Given the description of an element on the screen output the (x, y) to click on. 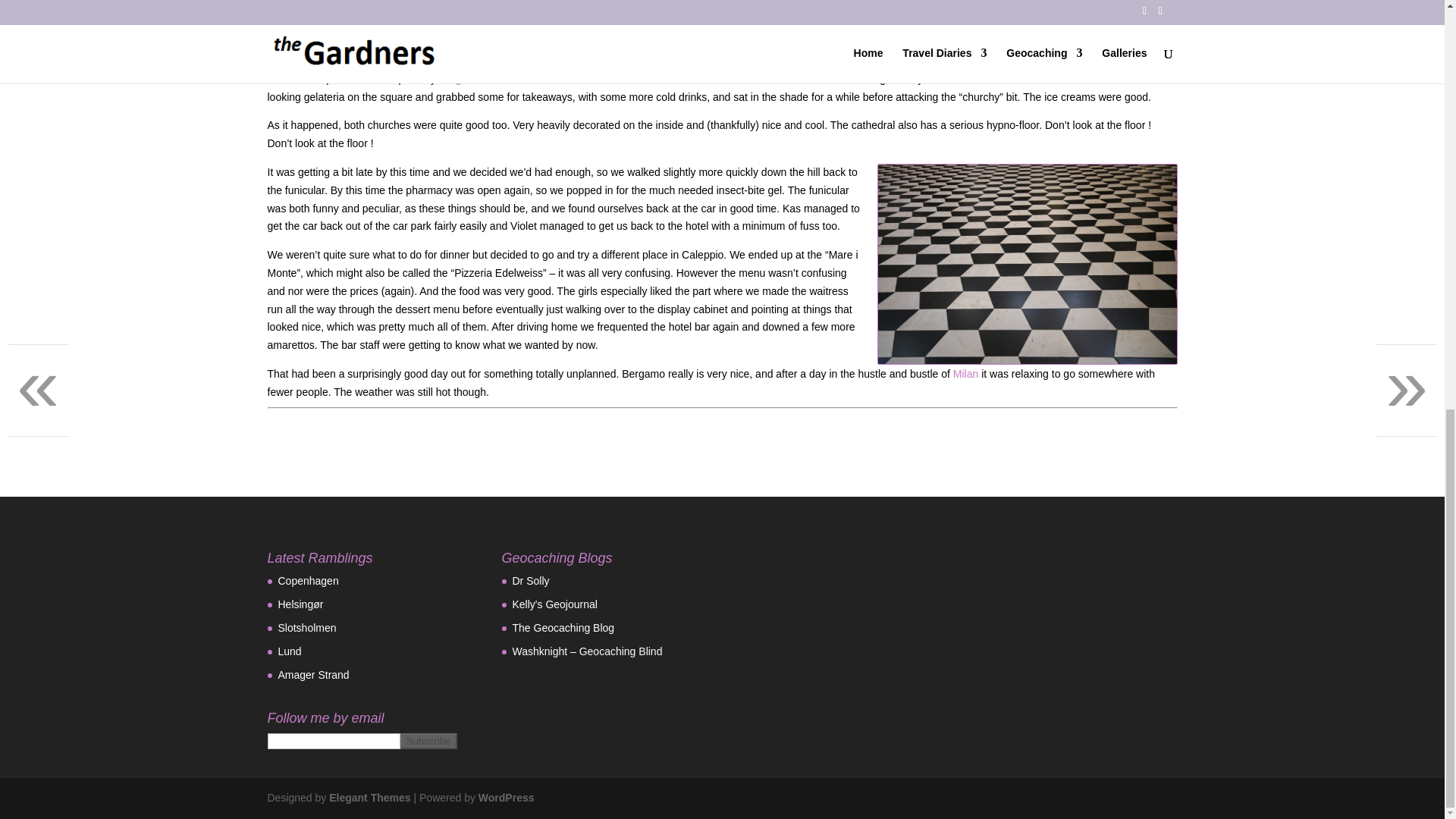
Subscribe (428, 741)
Bergamo Cathedral (485, 78)
Santa Maria Basilica (603, 78)
Premium WordPress Themes (369, 797)
